Given the description of an element on the screen output the (x, y) to click on. 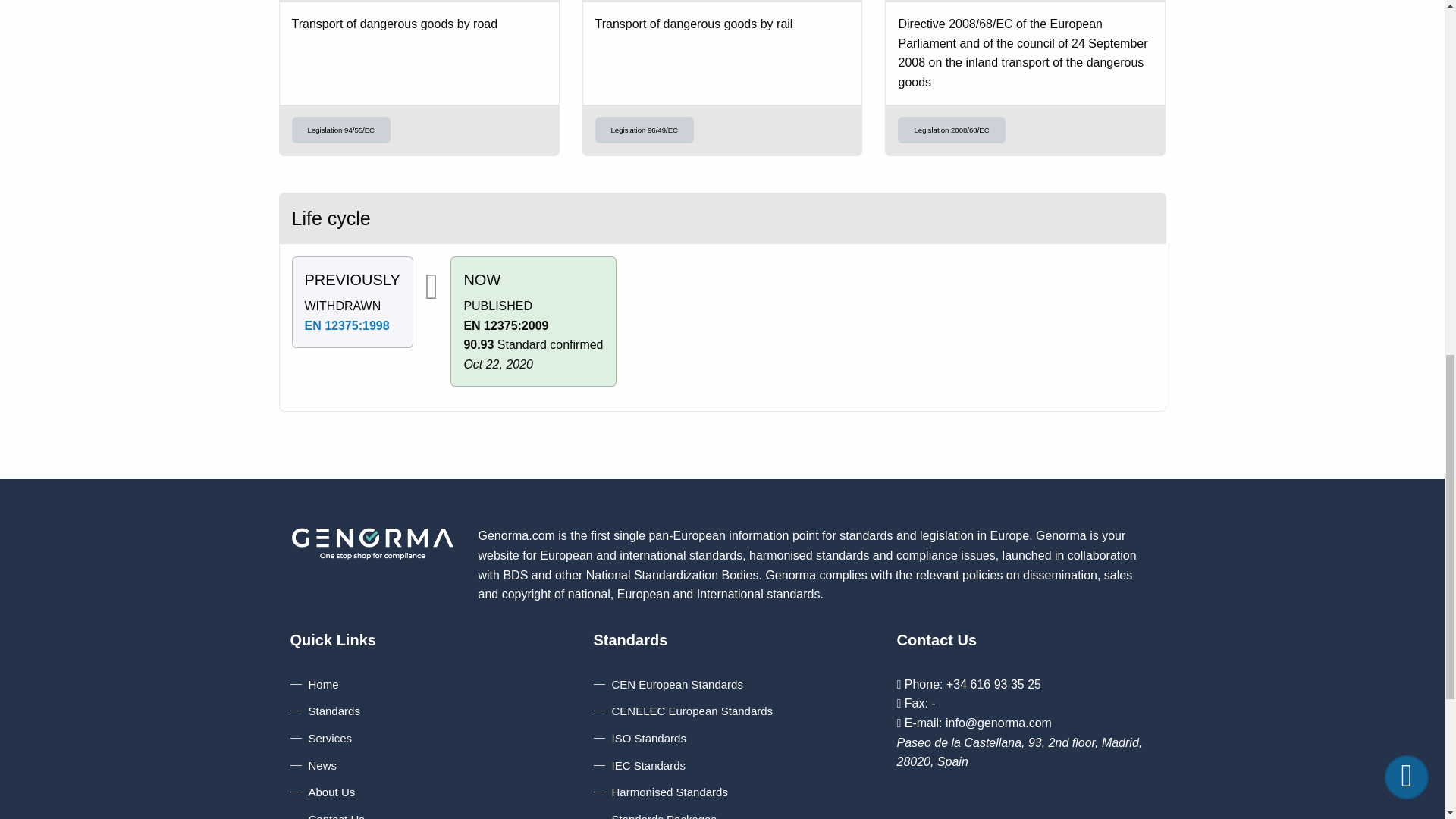
EN 12375:1998 (347, 325)
Standards (324, 710)
Home (314, 684)
